Given the description of an element on the screen output the (x, y) to click on. 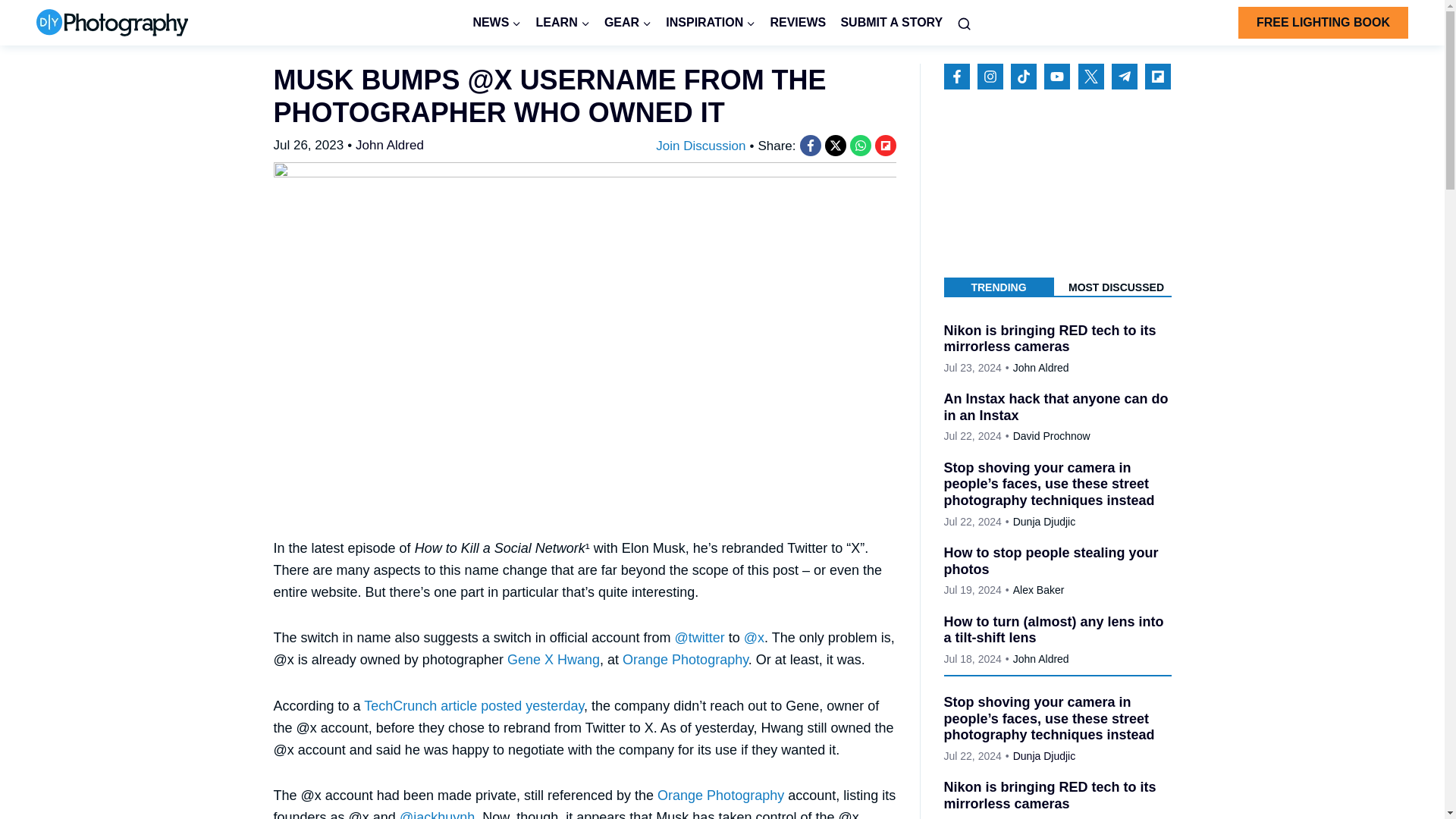
NEWS (496, 22)
